Given the description of an element on the screen output the (x, y) to click on. 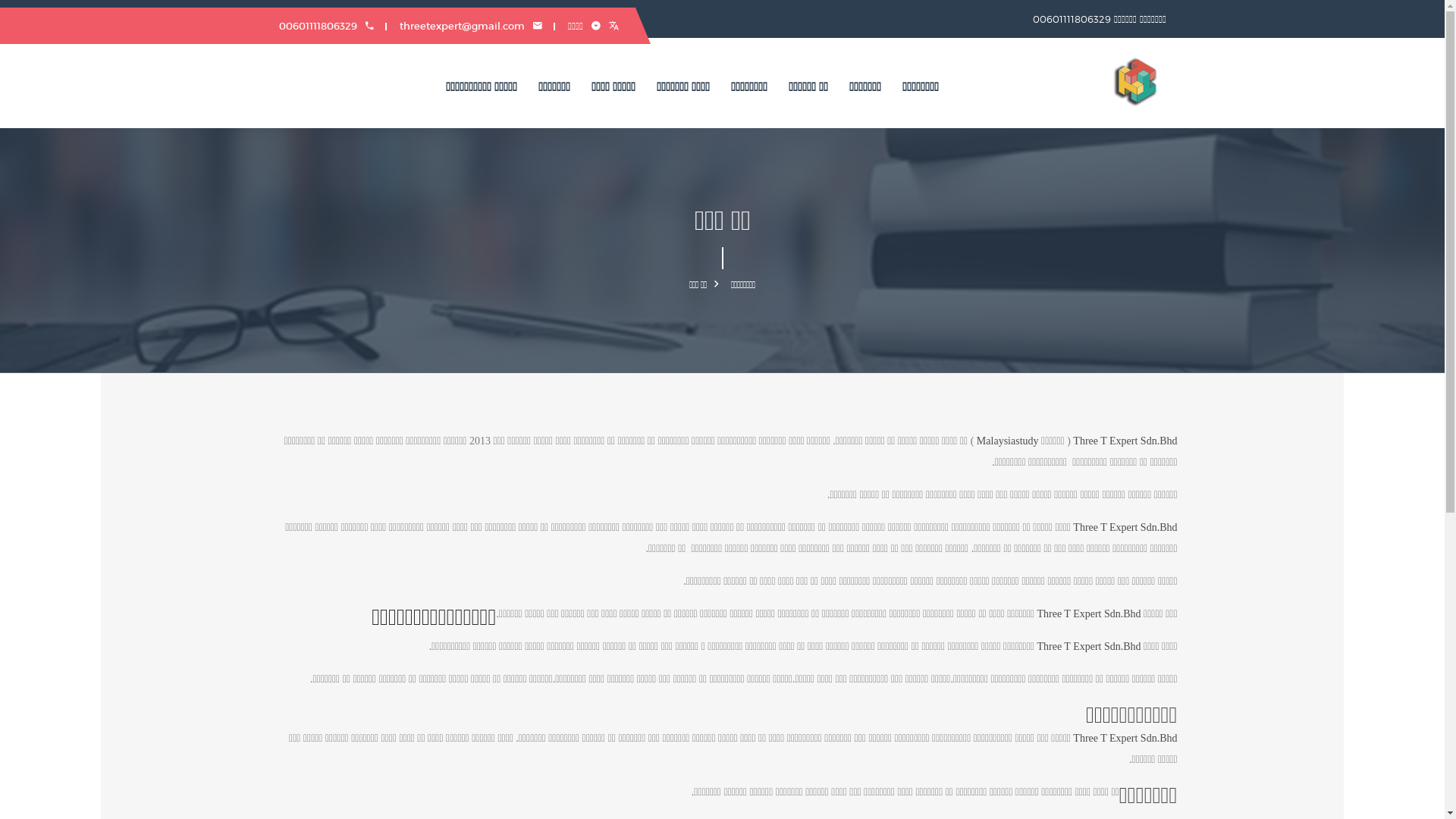
threetexpert@gmail.com Element type: text (469, 25)
00601111806329 Element type: text (326, 25)
